Given the description of an element on the screen output the (x, y) to click on. 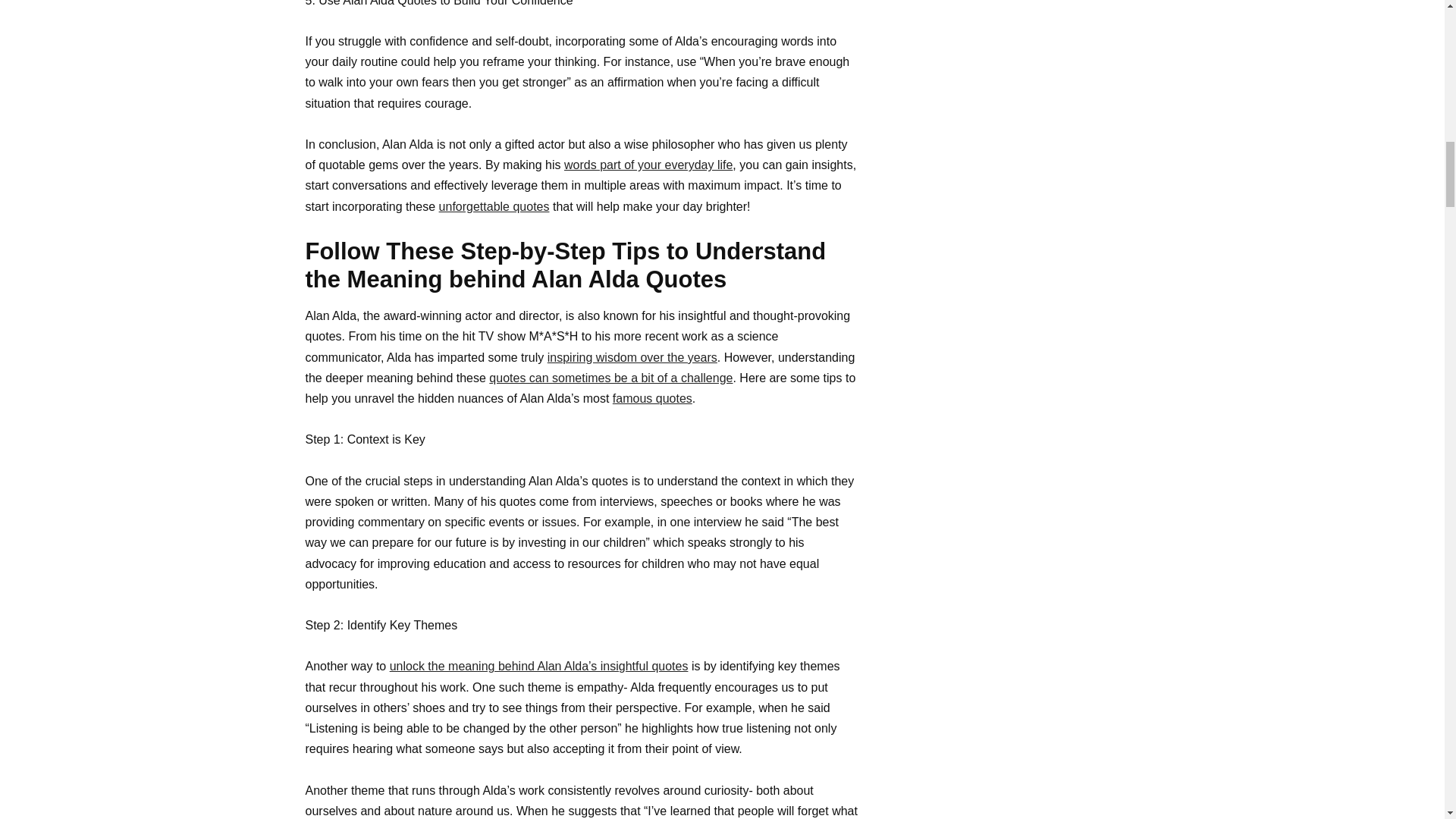
famous quotes (652, 398)
inspiring wisdom over the years (632, 357)
words part of your everyday life (648, 164)
quotes can sometimes be a bit of a challenge (610, 377)
unforgettable quotes (494, 205)
